Given the description of an element on the screen output the (x, y) to click on. 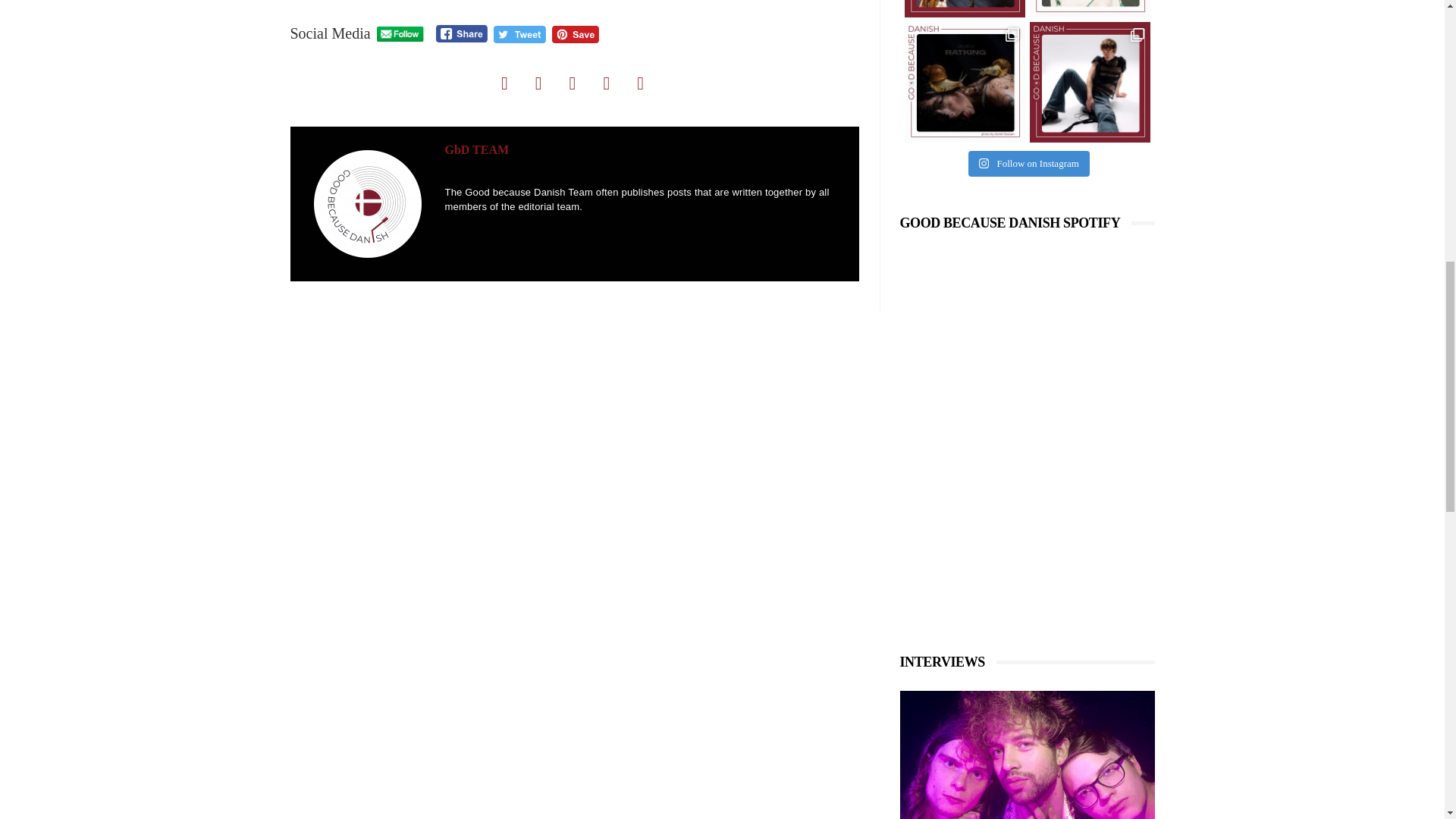
Pin Share (574, 34)
Tweet (519, 34)
Facebook Share (461, 33)
